Given the description of an element on the screen output the (x, y) to click on. 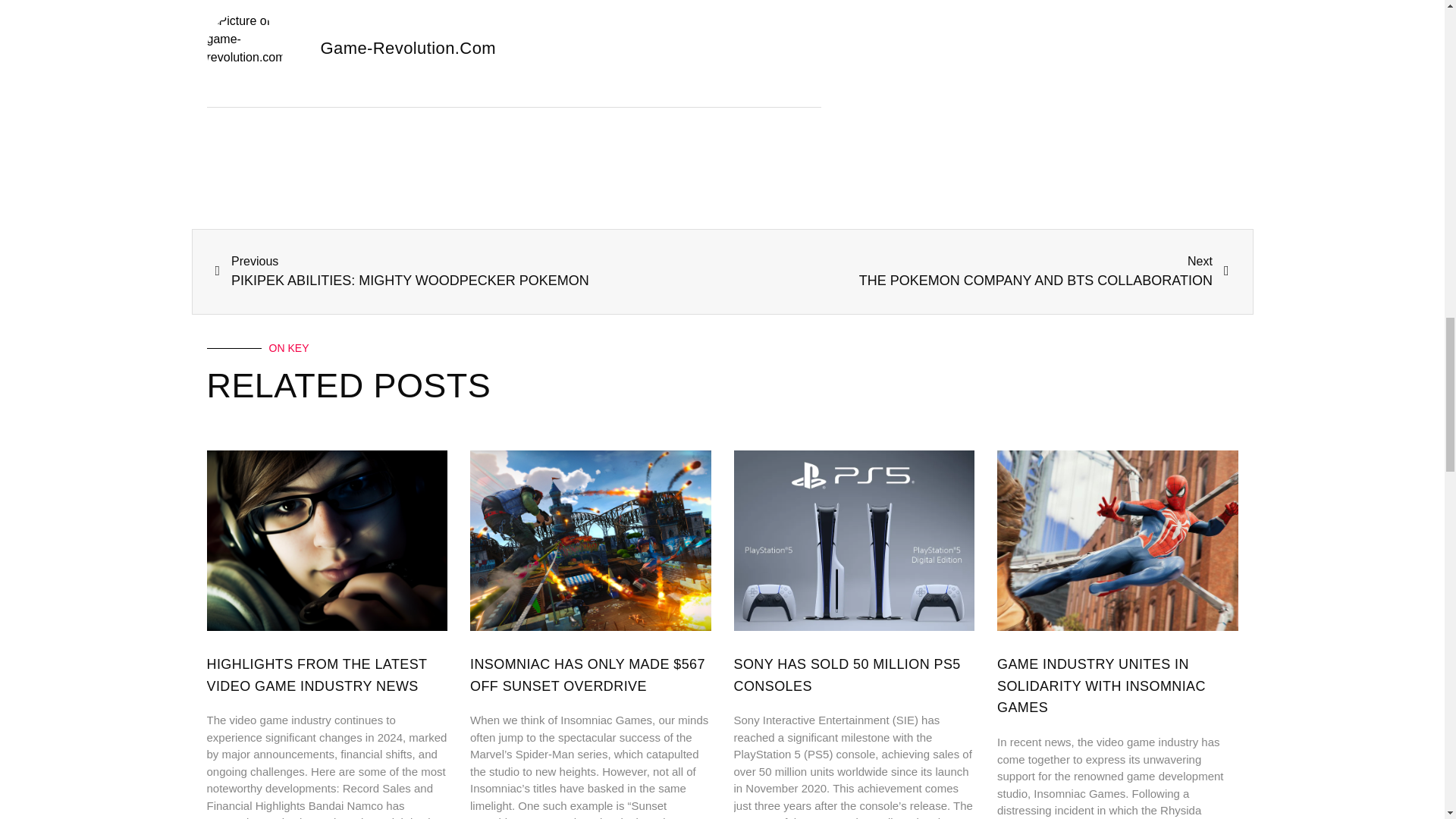
HIGHLIGHTS FROM THE LATEST VIDEO GAME INDUSTRY NEWS (316, 674)
GAME INDUSTRY UNITES IN SOLIDARITY WITH INSOMNIAC GAMES (975, 271)
SONY HAS SOLD 50 MILLION PS5 CONSOLES (1101, 685)
